Given the description of an element on the screen output the (x, y) to click on. 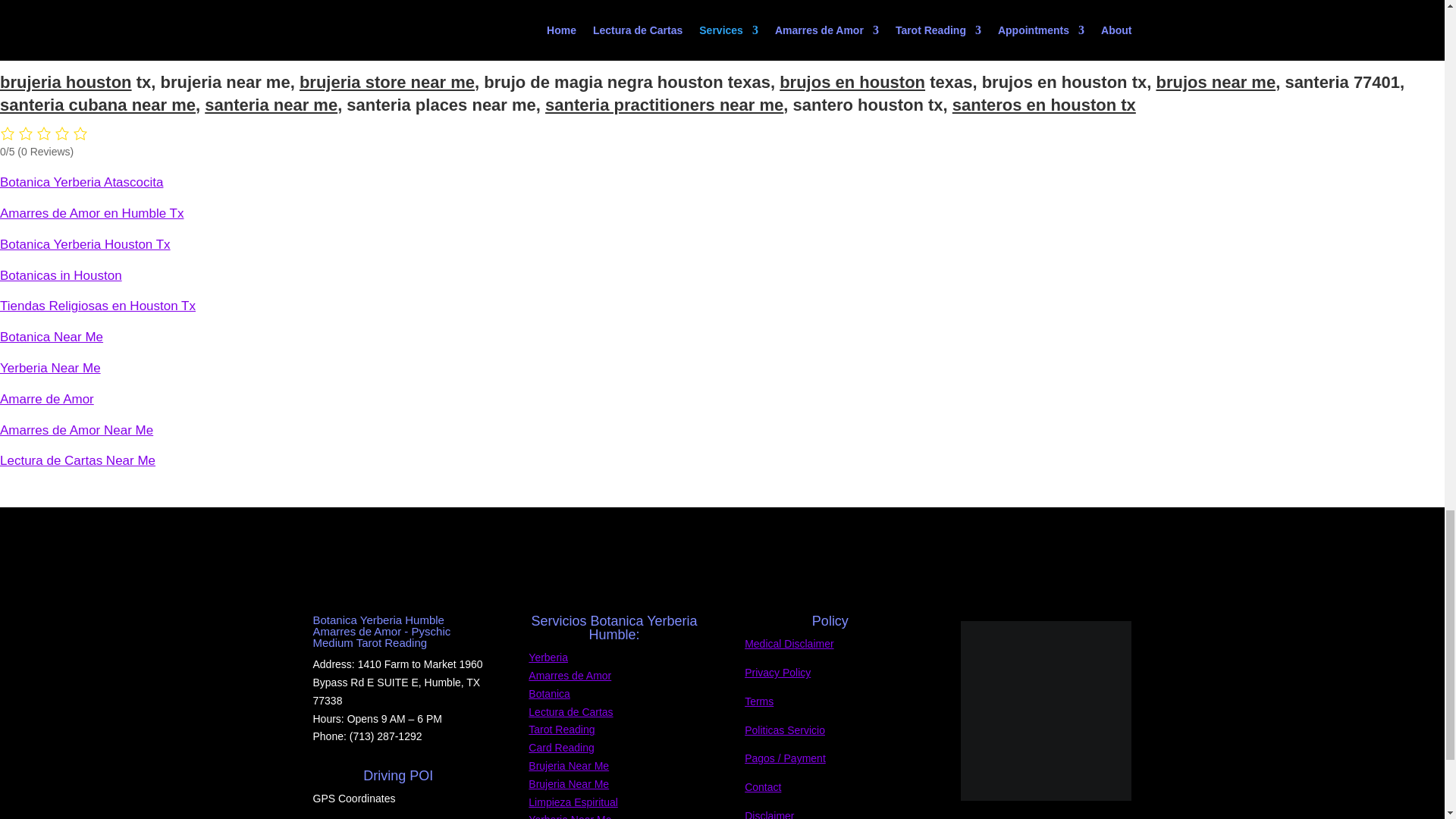
Santeros Humble Tx (723, 32)
Posts tagged with brujeria houston (66, 81)
santeria near me (271, 104)
Botanica Yerberia Atascocita (81, 182)
Posts tagged with santeros en houston tx (1043, 104)
brujeria store near me (386, 81)
Posts tagged with brujos en houston (851, 81)
Posts tagged with brujeria store near me (386, 81)
brujos en houston (851, 81)
santeria cubana near me (97, 104)
Posts tagged with santeria cubana near me (97, 104)
santeria practitioners near me (663, 104)
yerberias-near-me (1045, 710)
Posts tagged with santeria practitioners near me (663, 104)
brujos near me (1215, 81)
